Given the description of an element on the screen output the (x, y) to click on. 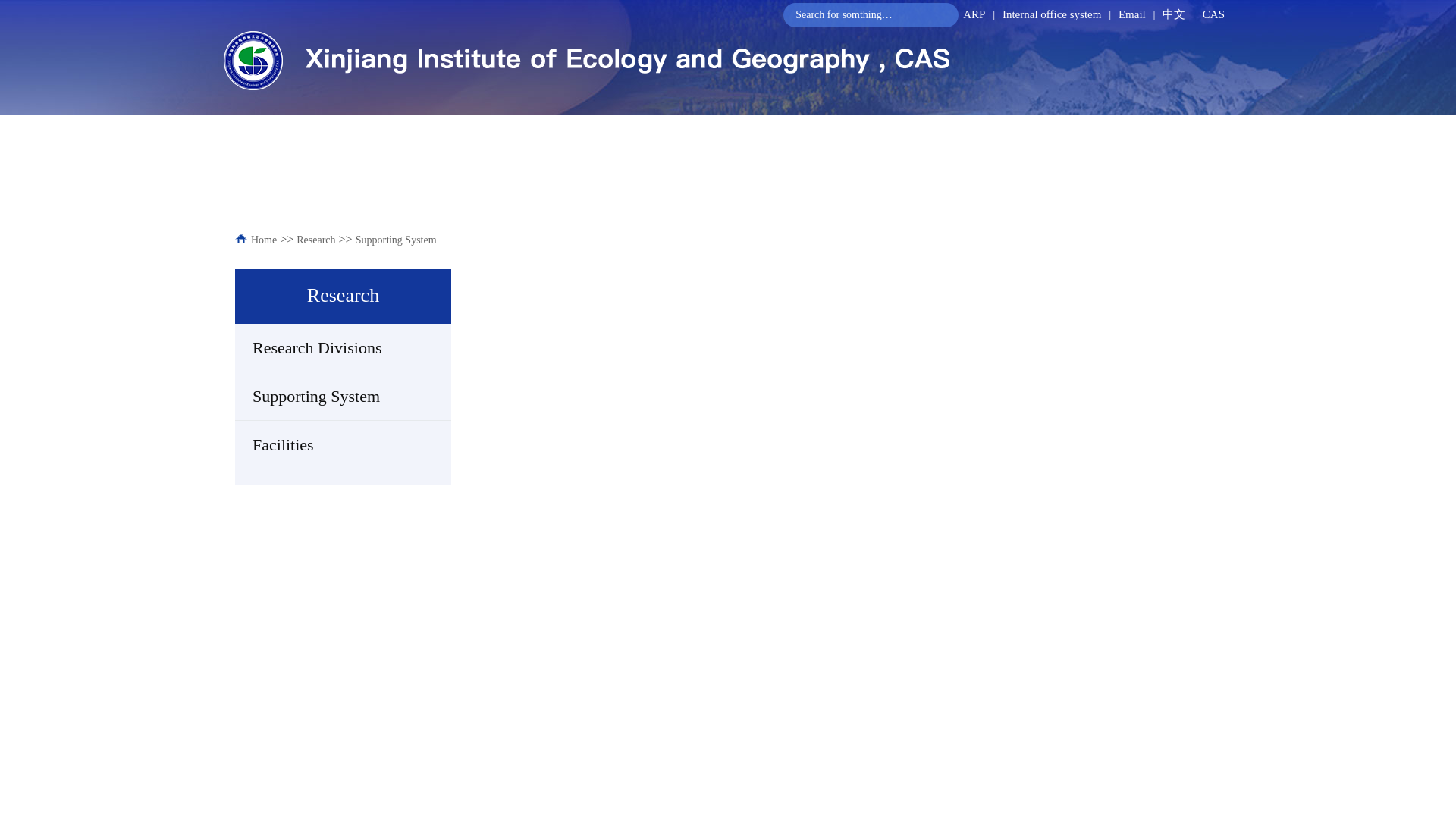
Email (1131, 14)
Internal office system (1052, 14)
People (614, 128)
Resources (1061, 128)
ARP (973, 14)
Links (1178, 128)
About (381, 128)
Research (496, 128)
Home (278, 128)
Home (263, 239)
CAS (1213, 14)
Education (925, 128)
